Given the description of an element on the screen output the (x, y) to click on. 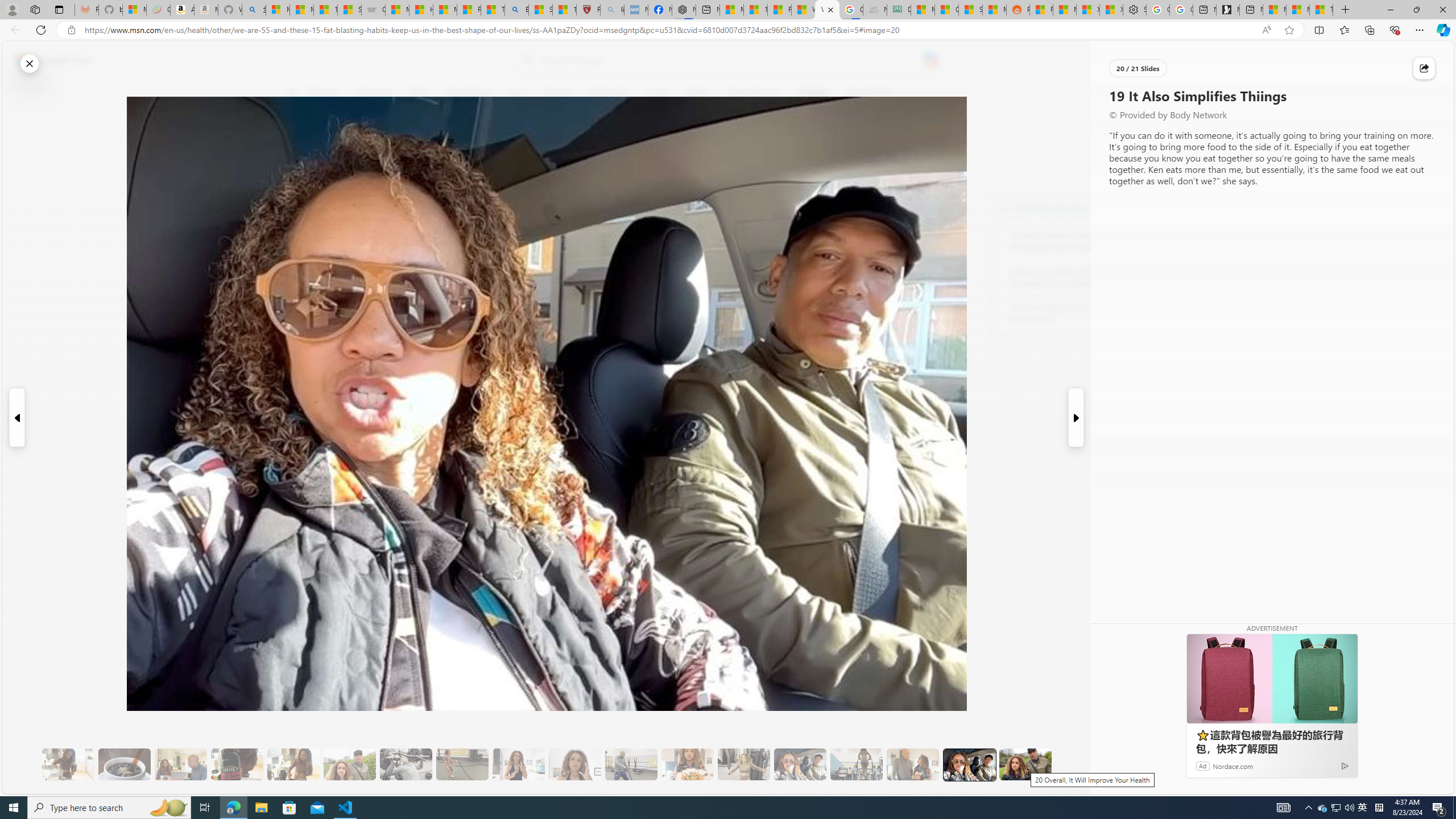
See more (1149, 785)
19 It Also Simplifies Thiings (968, 764)
10 Then, They Do HIIT Cardio (462, 764)
5 She Eats Less Than Her Husband (180, 764)
Politics (698, 92)
Class: at-item immersive (1423, 68)
Fitness - MSN (779, 9)
9 They Do Bench Exercises (406, 764)
Food & Drink (869, 92)
News (419, 92)
18 It's More Fun Doing It with Someone Else (912, 764)
Stocks - MSN (970, 9)
Body Network (1004, 207)
